Given the description of an element on the screen output the (x, y) to click on. 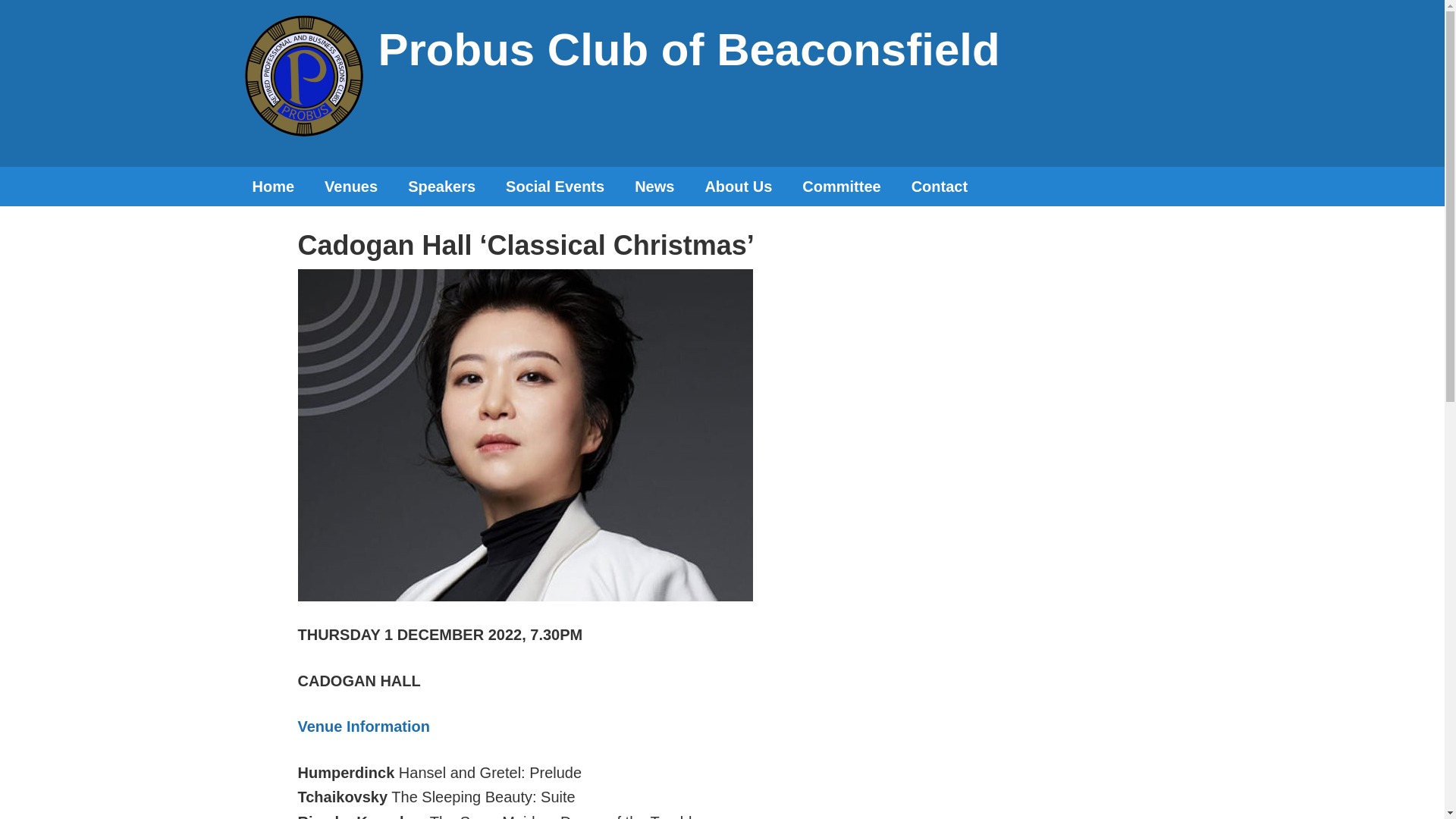
Contact (939, 186)
Social Events (555, 186)
Venue Information (363, 726)
Probus Club of Beaconsfield (687, 49)
News (654, 186)
Speakers (441, 186)
Committee (841, 186)
Venues (350, 186)
About Us (737, 186)
Home (271, 186)
